Given the description of an element on the screen output the (x, y) to click on. 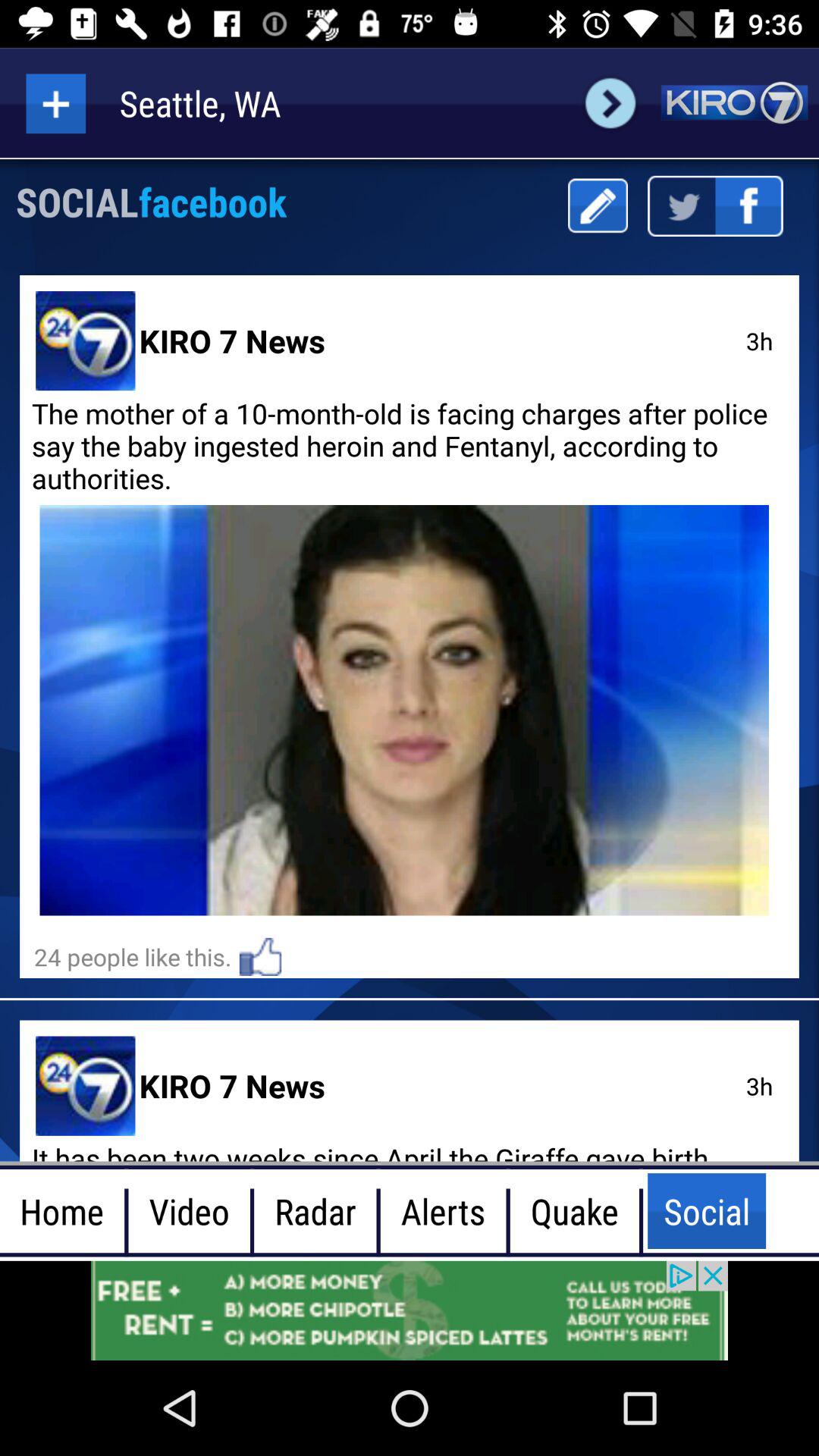
home page option (734, 103)
